Given the description of an element on the screen output the (x, y) to click on. 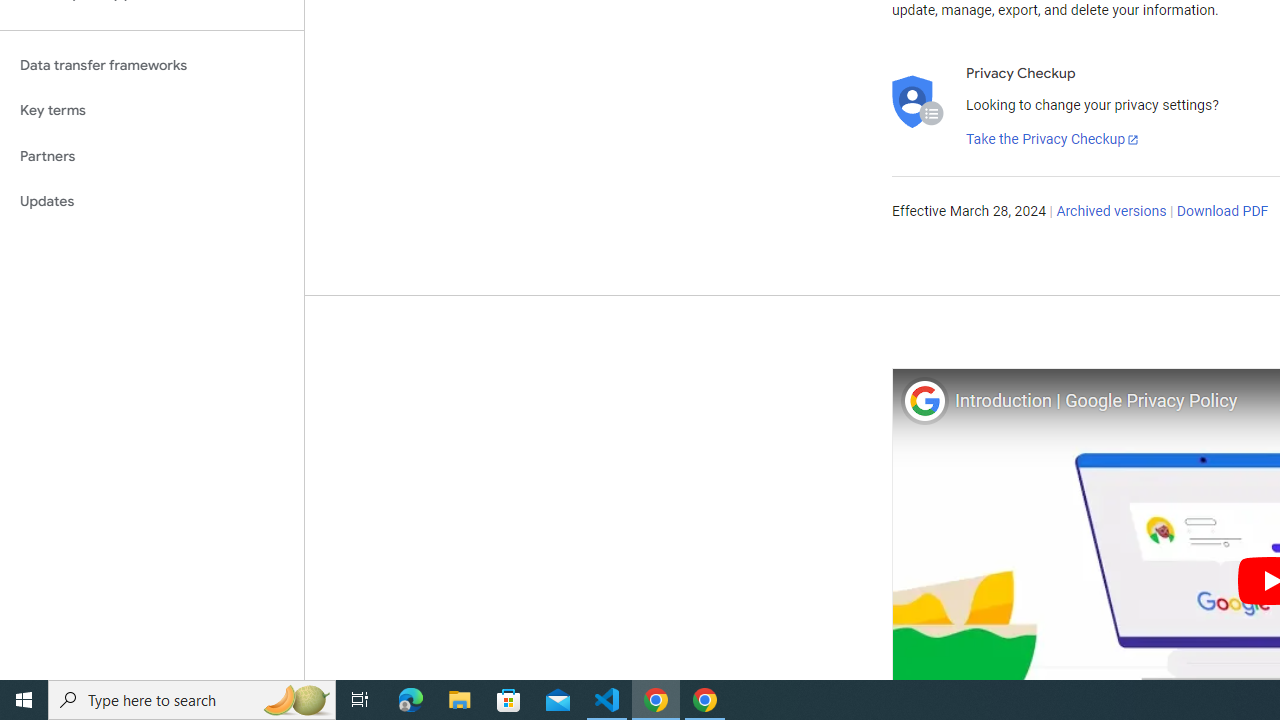
Partners (152, 156)
Key terms (152, 110)
Data transfer frameworks (152, 65)
Photo image of Google (924, 400)
Take the Privacy Checkup (1053, 140)
Updates (152, 201)
Archived versions (1111, 212)
Download PDF (1222, 212)
